Given the description of an element on the screen output the (x, y) to click on. 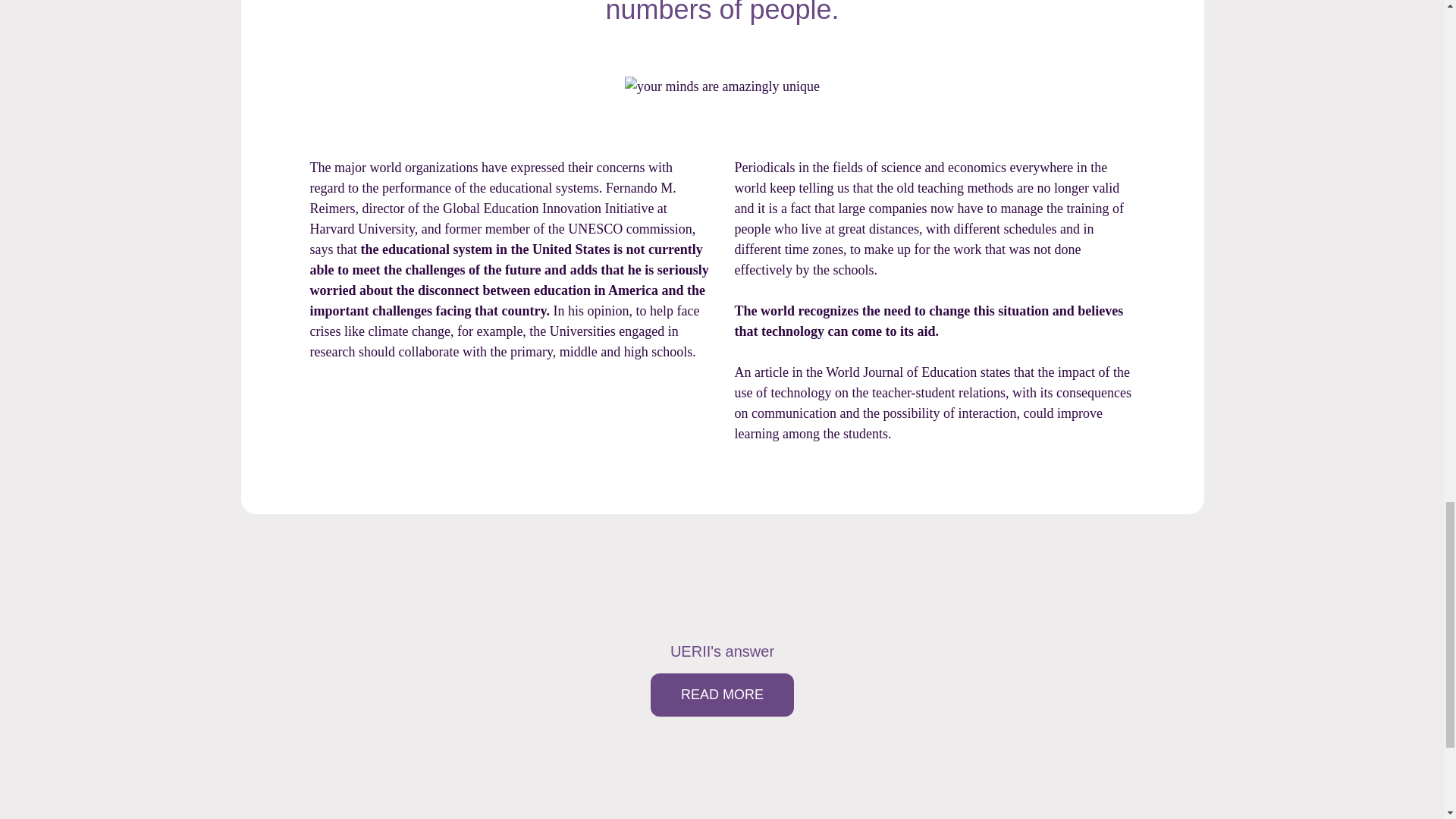
READ MORE (721, 694)
